Given the description of an element on the screen output the (x, y) to click on. 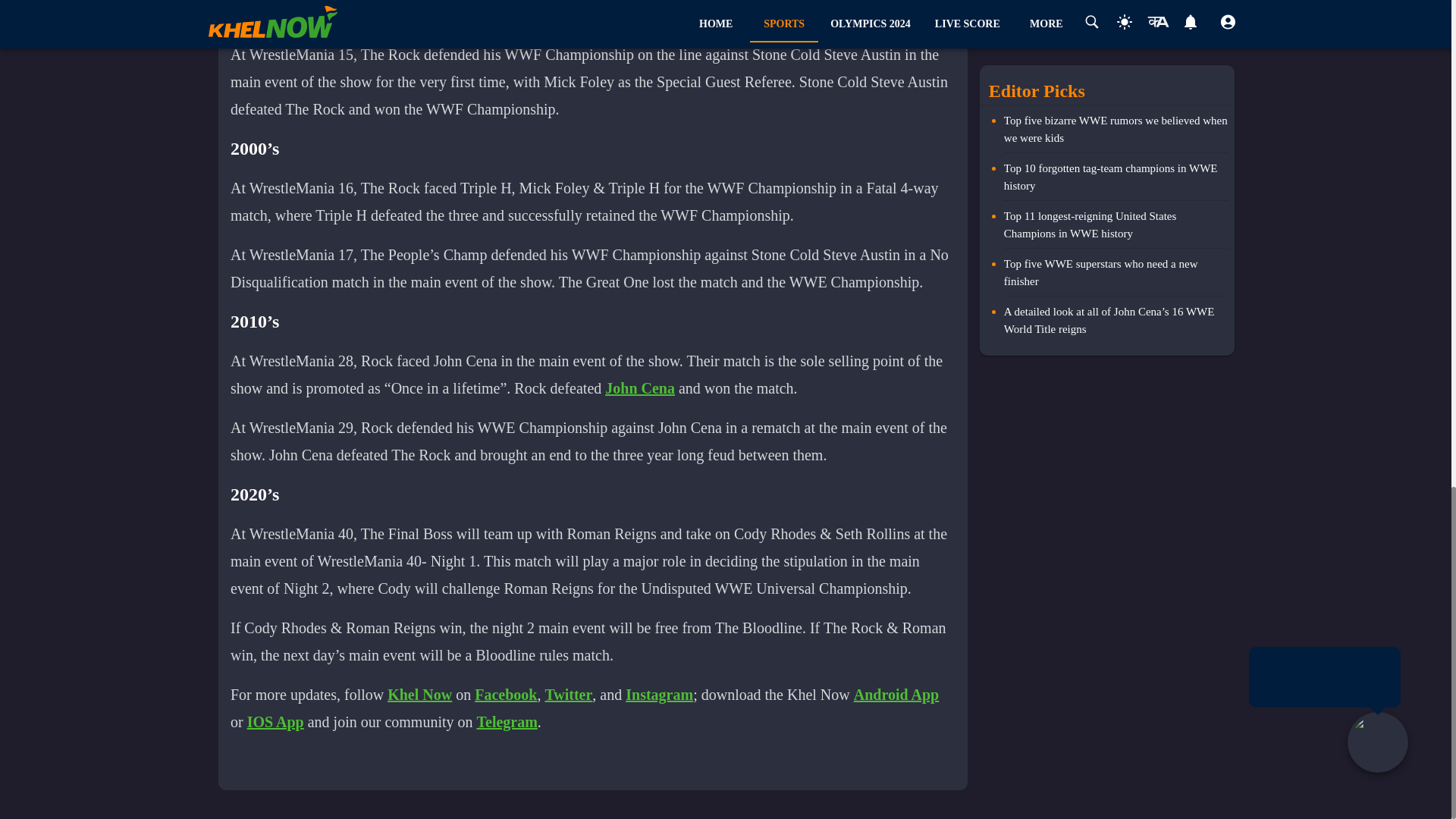
Android App (896, 694)
Khel Now (419, 694)
John Cena (640, 388)
Top 10 forgotten tag-team champions in WWE history (1116, 179)
Twitter (568, 694)
Facebook (505, 694)
Telegram (506, 721)
Top five bizarre WWE rumors we believed when we were kids (1116, 132)
Instagram (659, 694)
IOS App (275, 721)
